Given the description of an element on the screen output the (x, y) to click on. 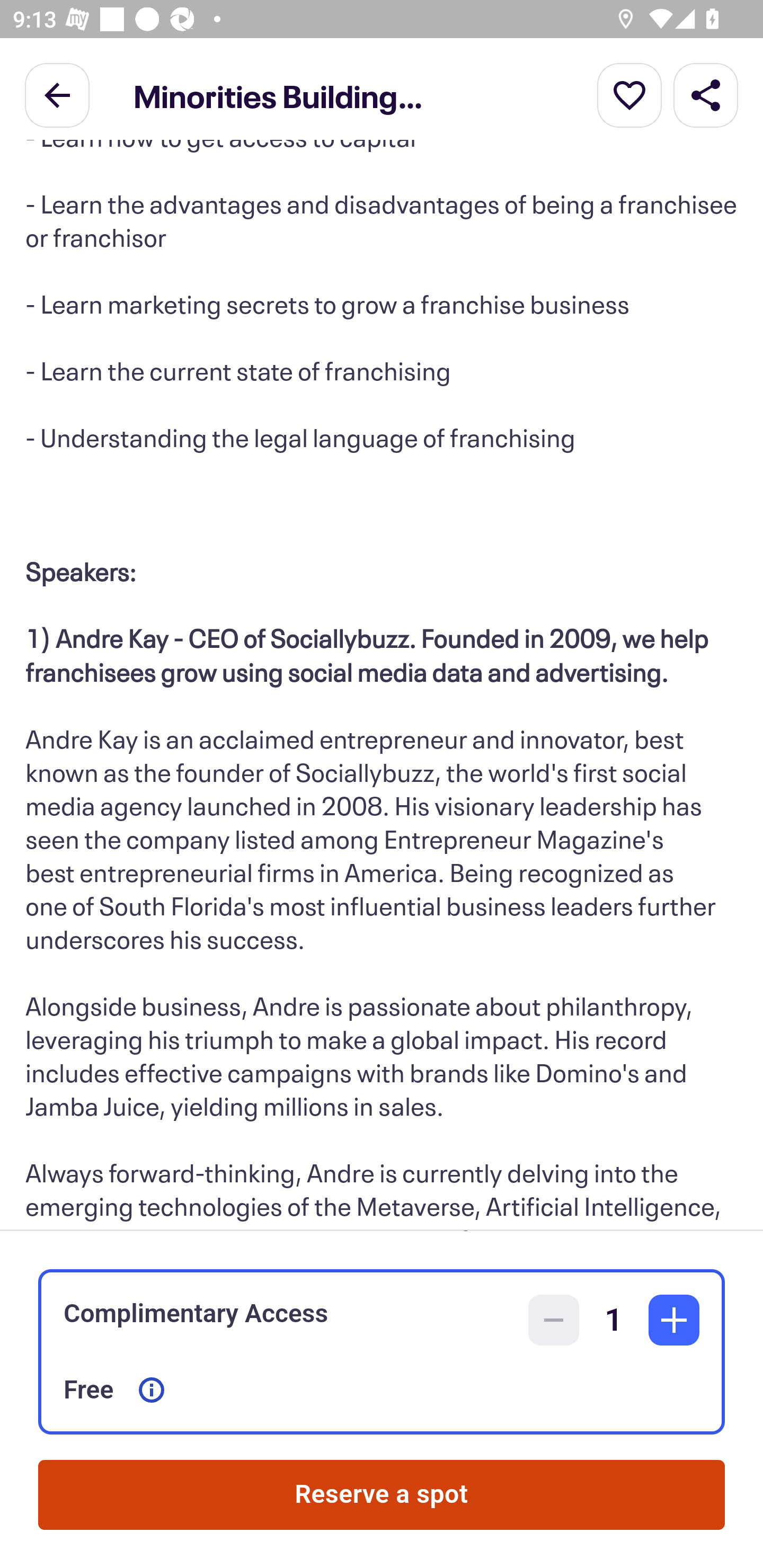
Back (57, 94)
More (629, 94)
Share (705, 94)
Decrease (553, 1320)
Increase (673, 1320)
Show more information (151, 1389)
Reserve a spot (381, 1494)
